Given the description of an element on the screen output the (x, y) to click on. 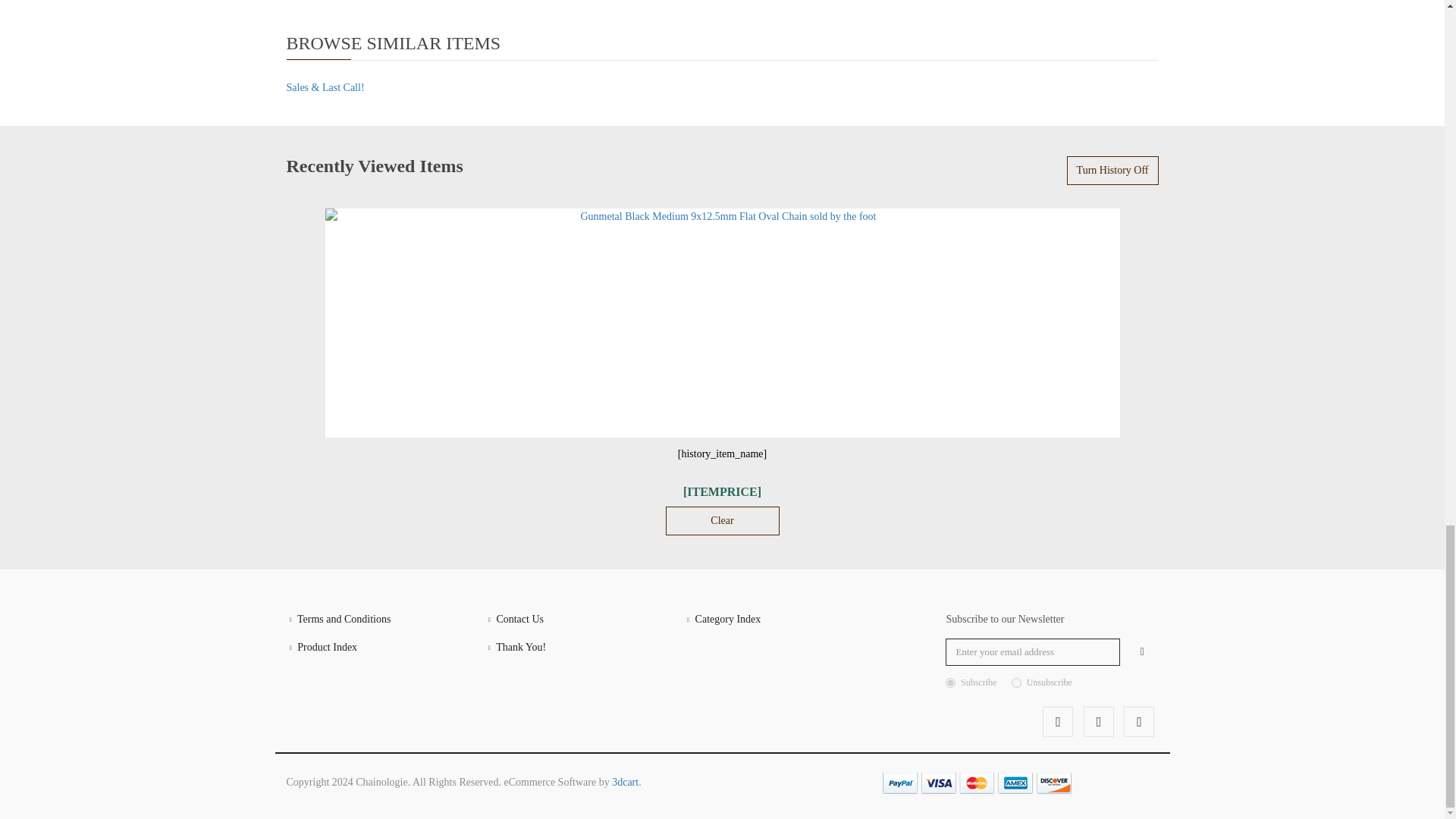
0 (1016, 682)
Credit Card Logos (976, 783)
Follow Us on Pinterest (1098, 721)
Follow Us on Instagram (1139, 721)
1 (949, 682)
Like Us on Facebook (1057, 721)
